Given the description of an element on the screen output the (x, y) to click on. 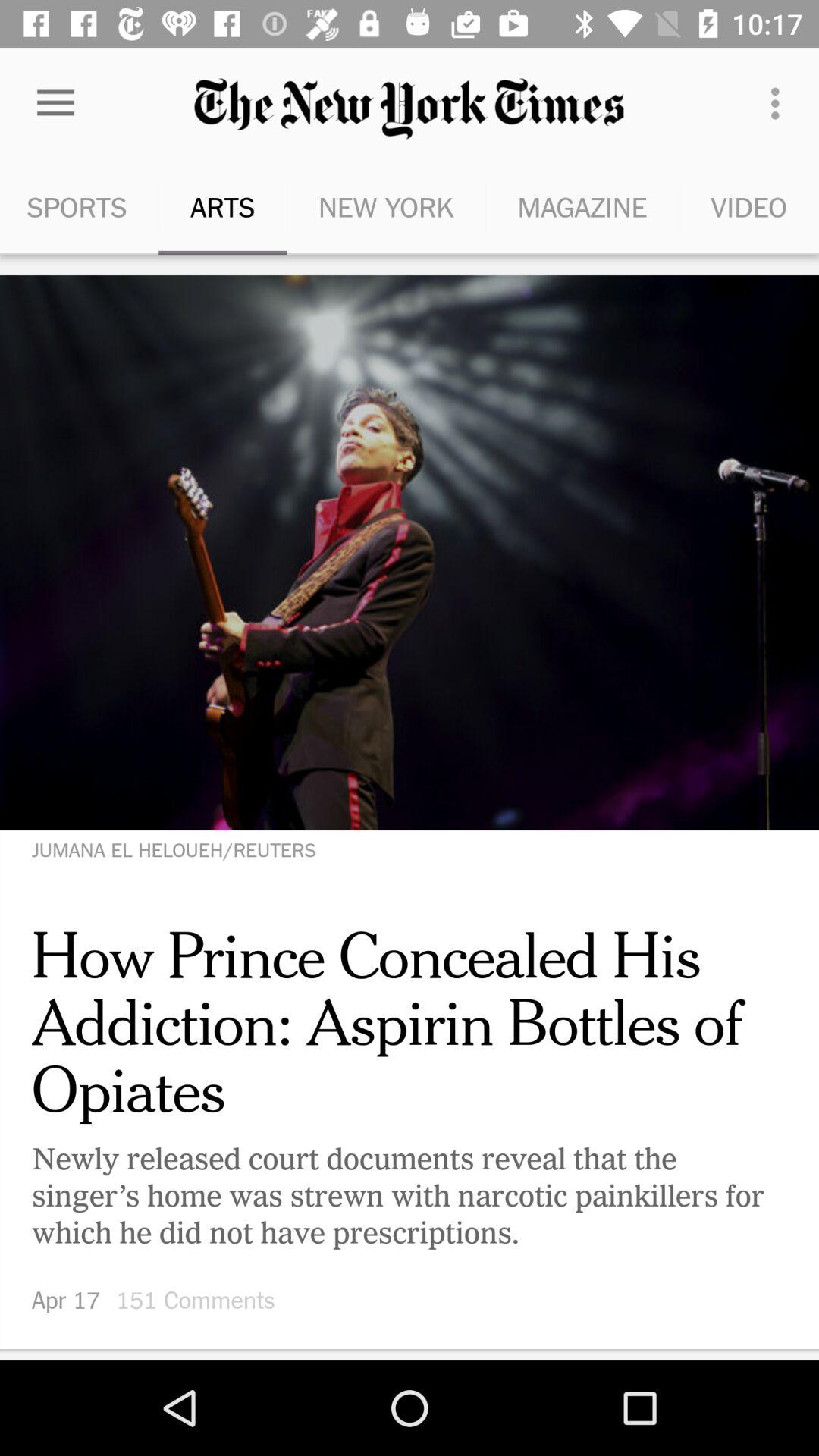
turn off new york item (385, 206)
